Given the description of an element on the screen output the (x, y) to click on. 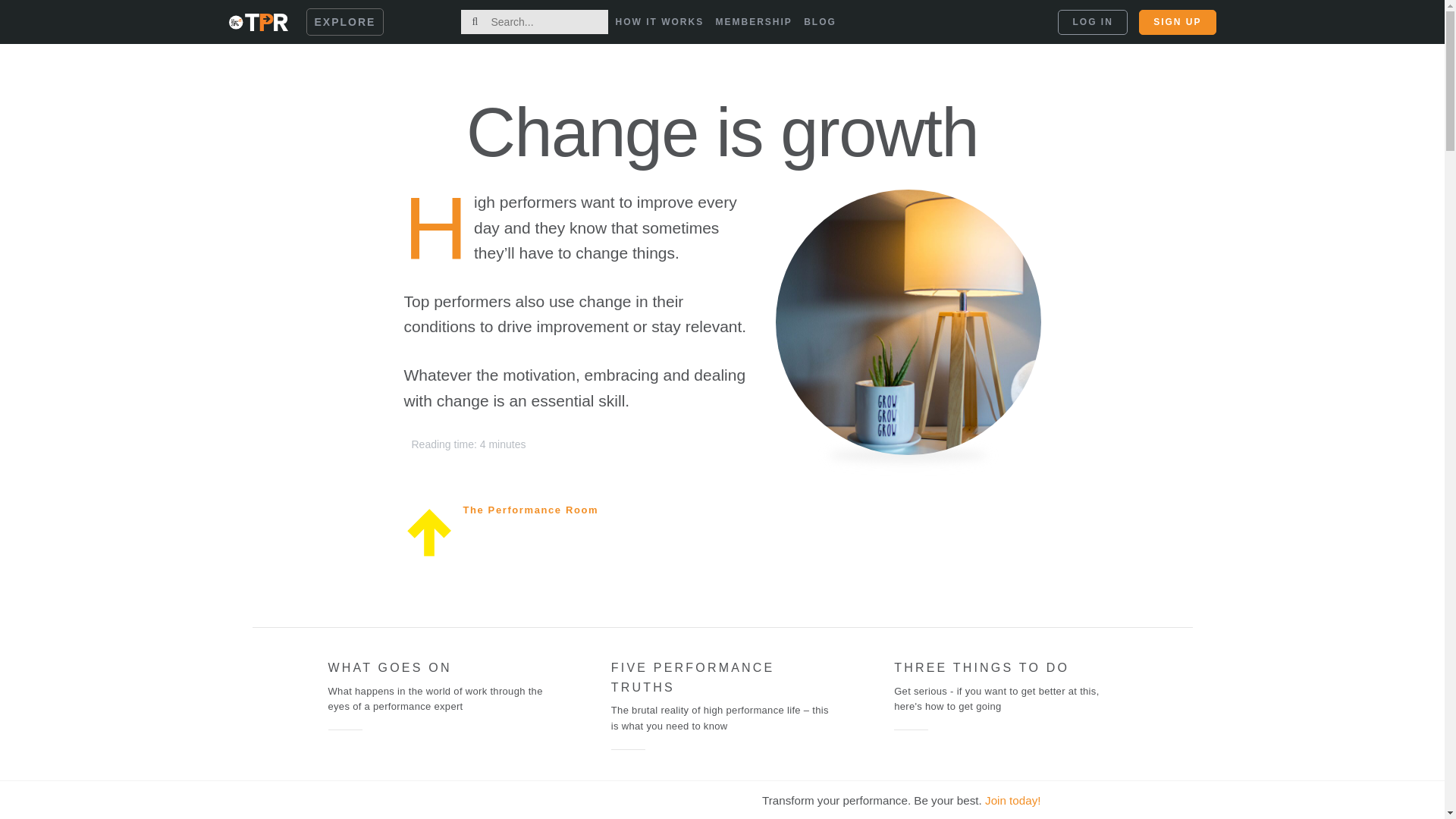
Jump to this section (721, 696)
MEMBERSHIP (754, 22)
BLOG (819, 22)
Jump to this section (1005, 696)
EXPLORE (344, 22)
HOW IT WORKS (659, 22)
Jump to this section (438, 696)
